Given the description of an element on the screen output the (x, y) to click on. 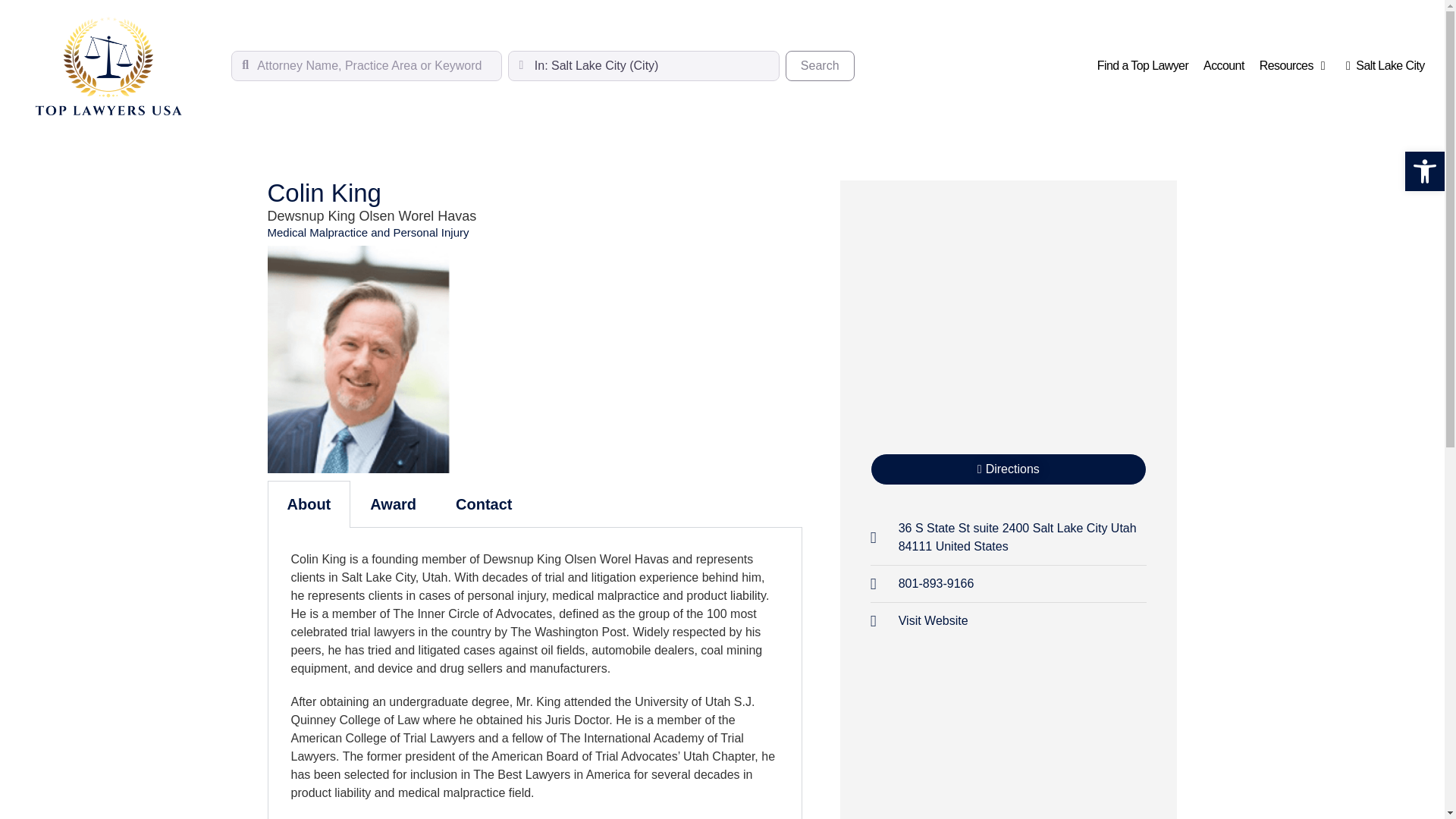
Account (1223, 65)
Salt Lake City (1385, 65)
Accessibility Tools (1424, 170)
Find a Top Lawyer (820, 65)
Resources (1142, 65)
